Given the description of an element on the screen output the (x, y) to click on. 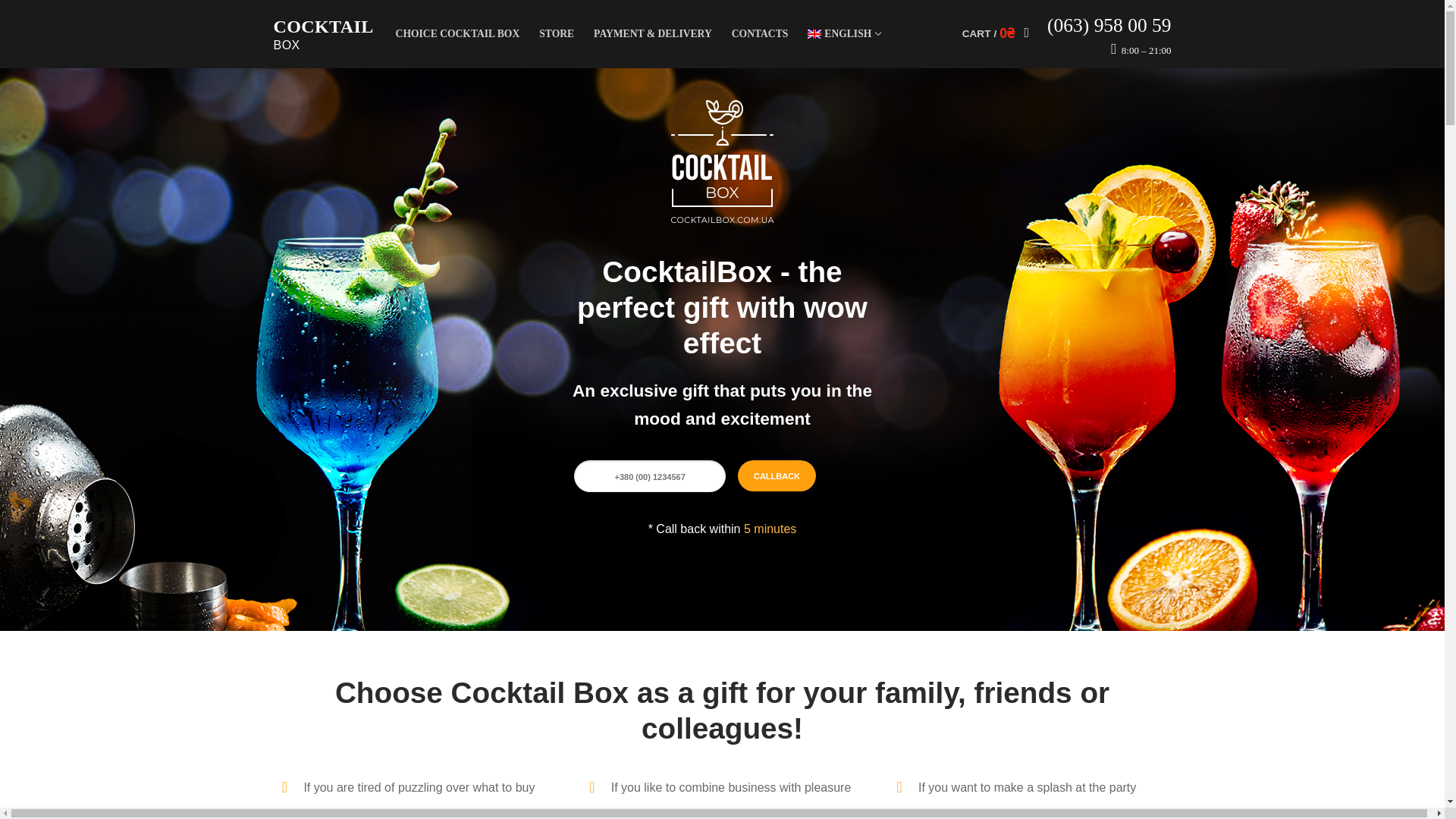
CHOICE COCKTAIL BOX (457, 33)
Callback (776, 476)
CONTACTS (759, 33)
STORE (556, 33)
English (842, 33)
Callback (776, 476)
COCKTAIL (842, 33)
